Given the description of an element on the screen output the (x, y) to click on. 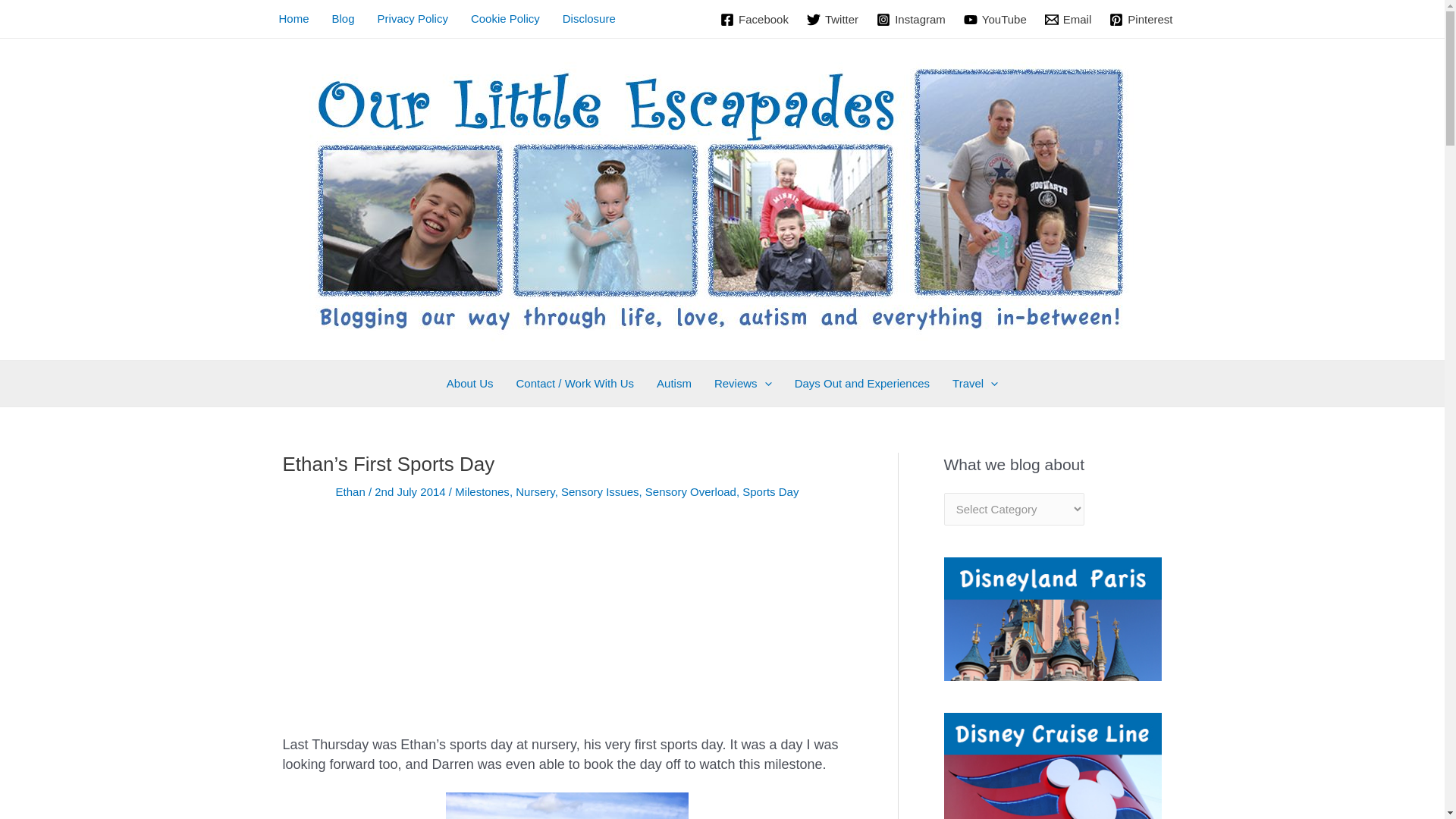
Twitter (832, 19)
Cookie Policy (505, 18)
Instagram (911, 19)
Days Out and Experiences (861, 383)
Travel (974, 383)
About Us (470, 383)
Advertisement (566, 629)
Autism (674, 383)
Disclosure (589, 18)
Home (293, 18)
Facebook (754, 19)
Privacy Policy (413, 18)
Blog (343, 18)
YouTube (994, 19)
Email (1068, 19)
